Given the description of an element on the screen output the (x, y) to click on. 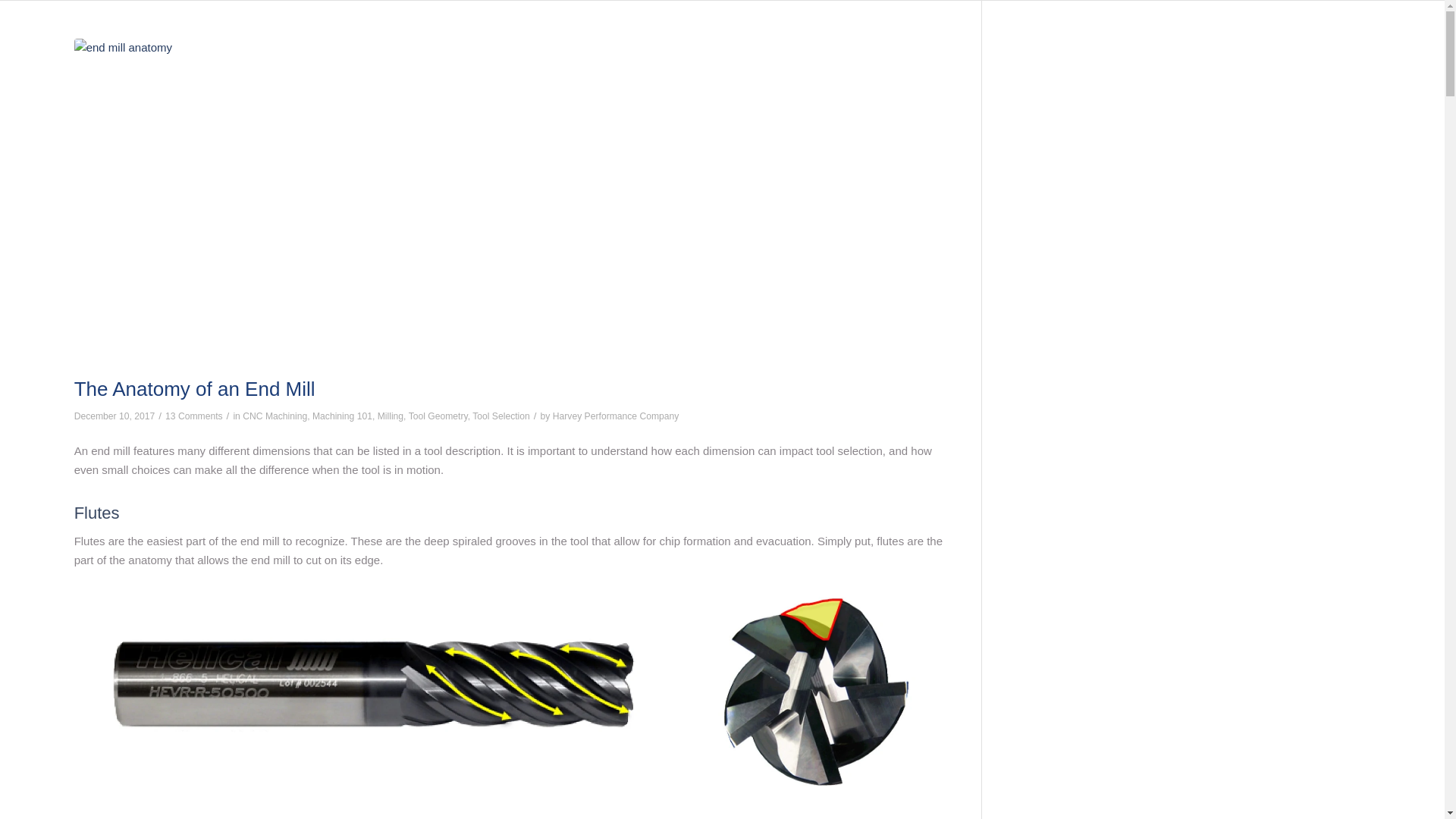
Posts by Harvey Performance Company (616, 416)
Harvey Performance Company (616, 416)
Machining 101 (342, 416)
13 Comments (193, 416)
Tool Selection (500, 416)
Tool Geometry (438, 416)
Milling (390, 416)
CNC Machining (275, 416)
